Given the description of an element on the screen output the (x, y) to click on. 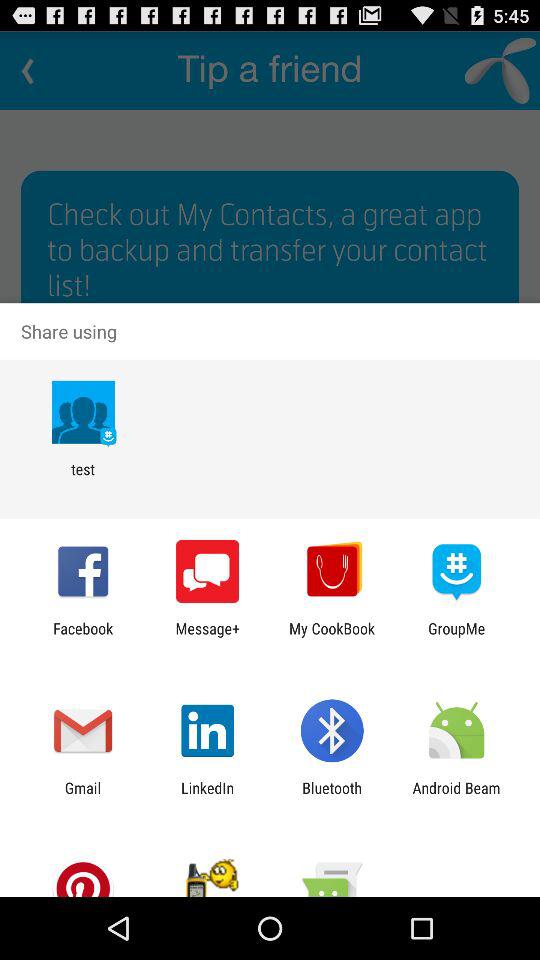
jump until the bluetooth item (331, 796)
